Given the description of an element on the screen output the (x, y) to click on. 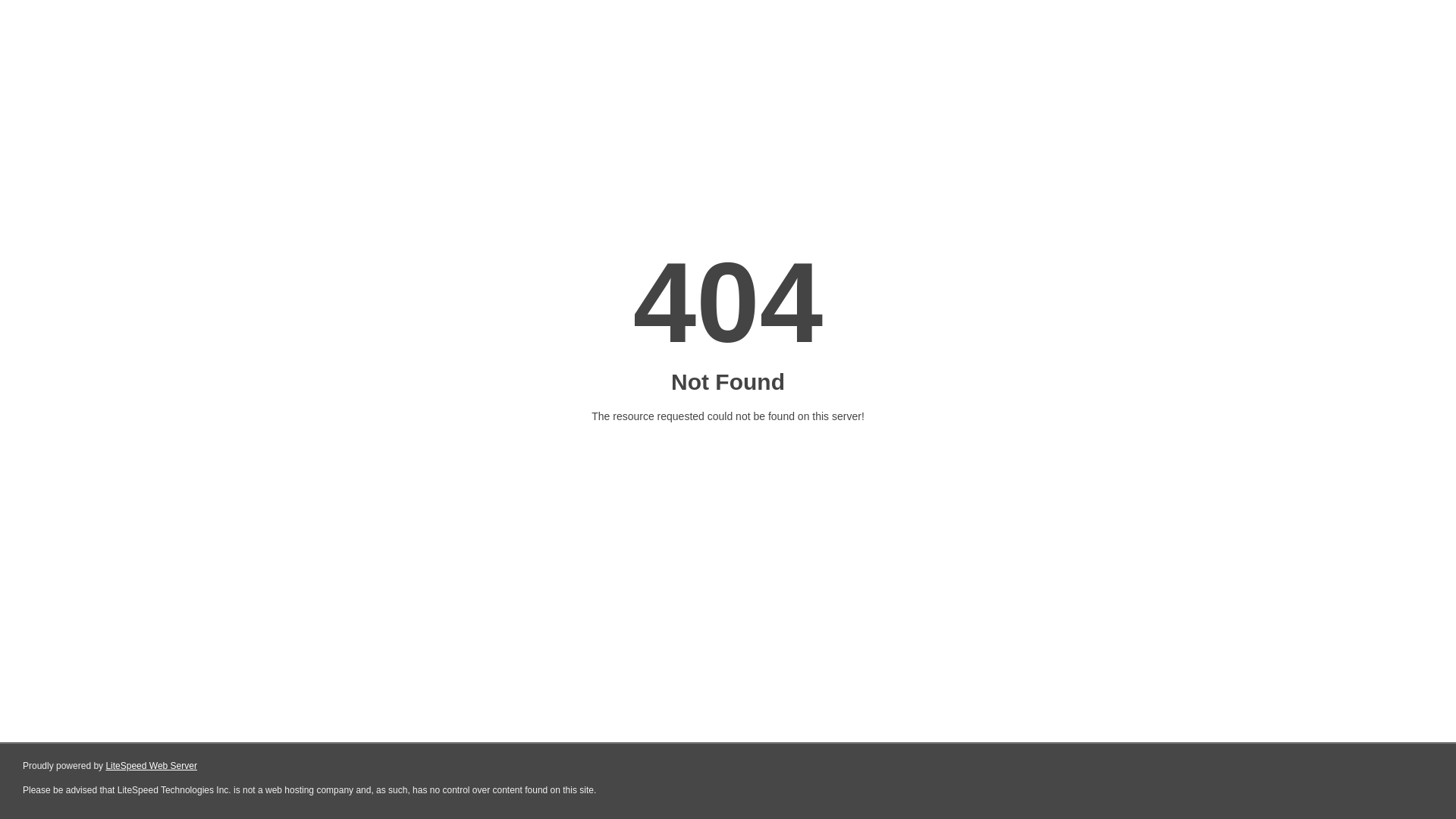
LiteSpeed Web Server Element type: text (151, 765)
